Given the description of an element on the screen output the (x, y) to click on. 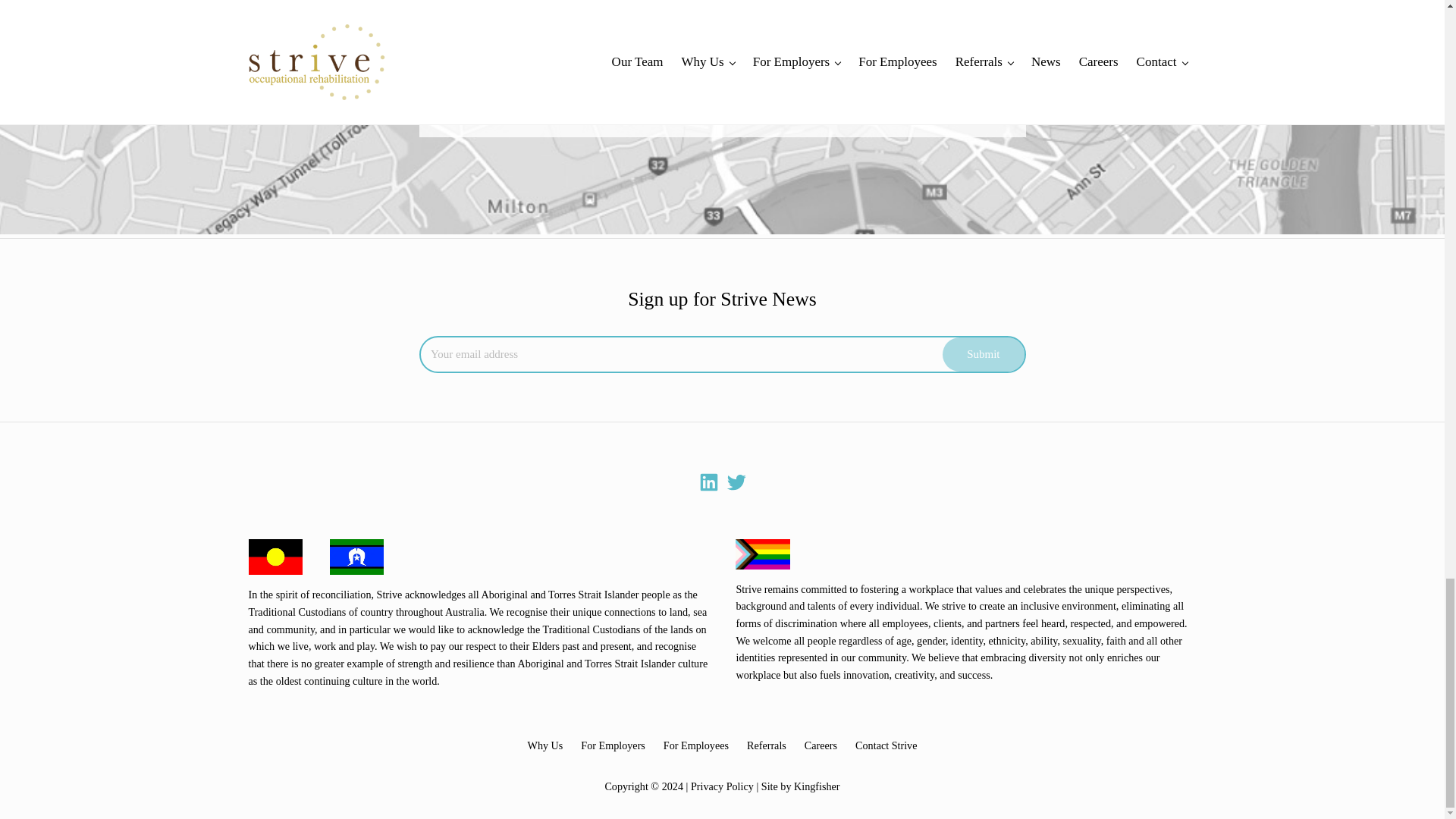
Submit (982, 354)
